Given the description of an element on the screen output the (x, y) to click on. 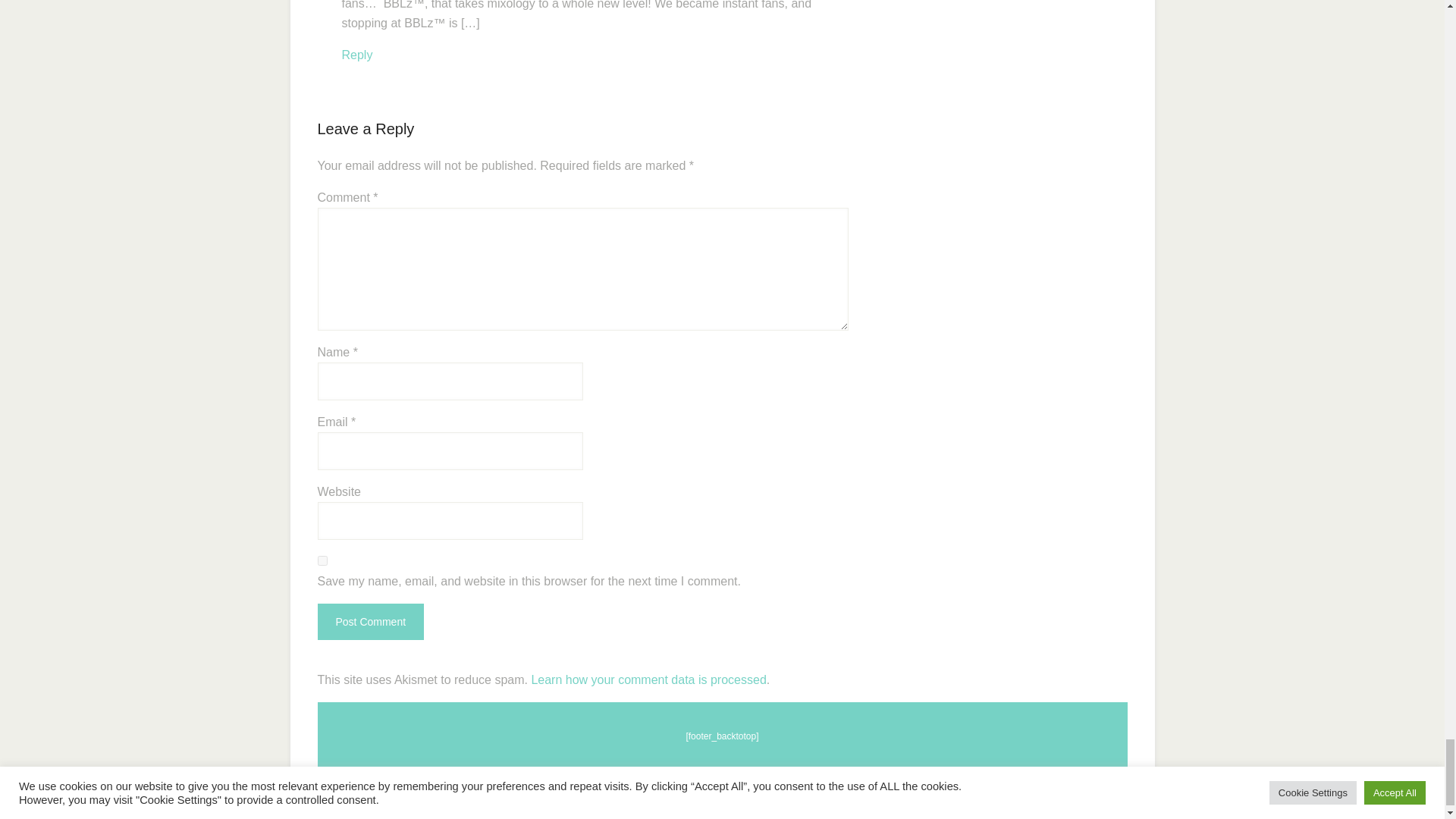
yes (321, 560)
Post Comment (370, 621)
